Given the description of an element on the screen output the (x, y) to click on. 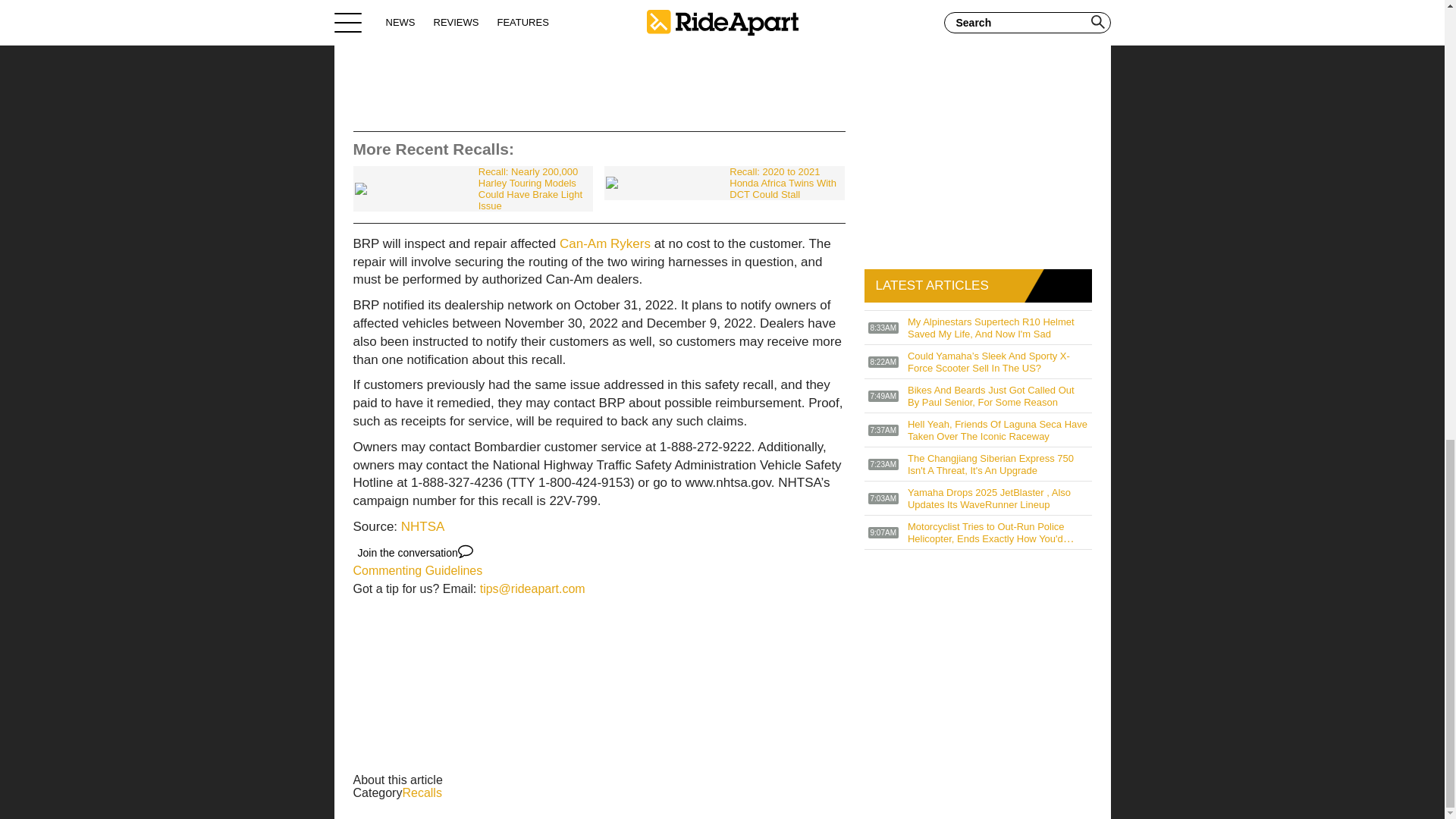
Commenting Guidelines (418, 570)
Join the conversation (415, 552)
Recall: 2020 to 2021 Honda Africa Twins With DCT Could Stall (724, 182)
Can-Am Rykers (604, 243)
NHTSA (423, 526)
